Given the description of an element on the screen output the (x, y) to click on. 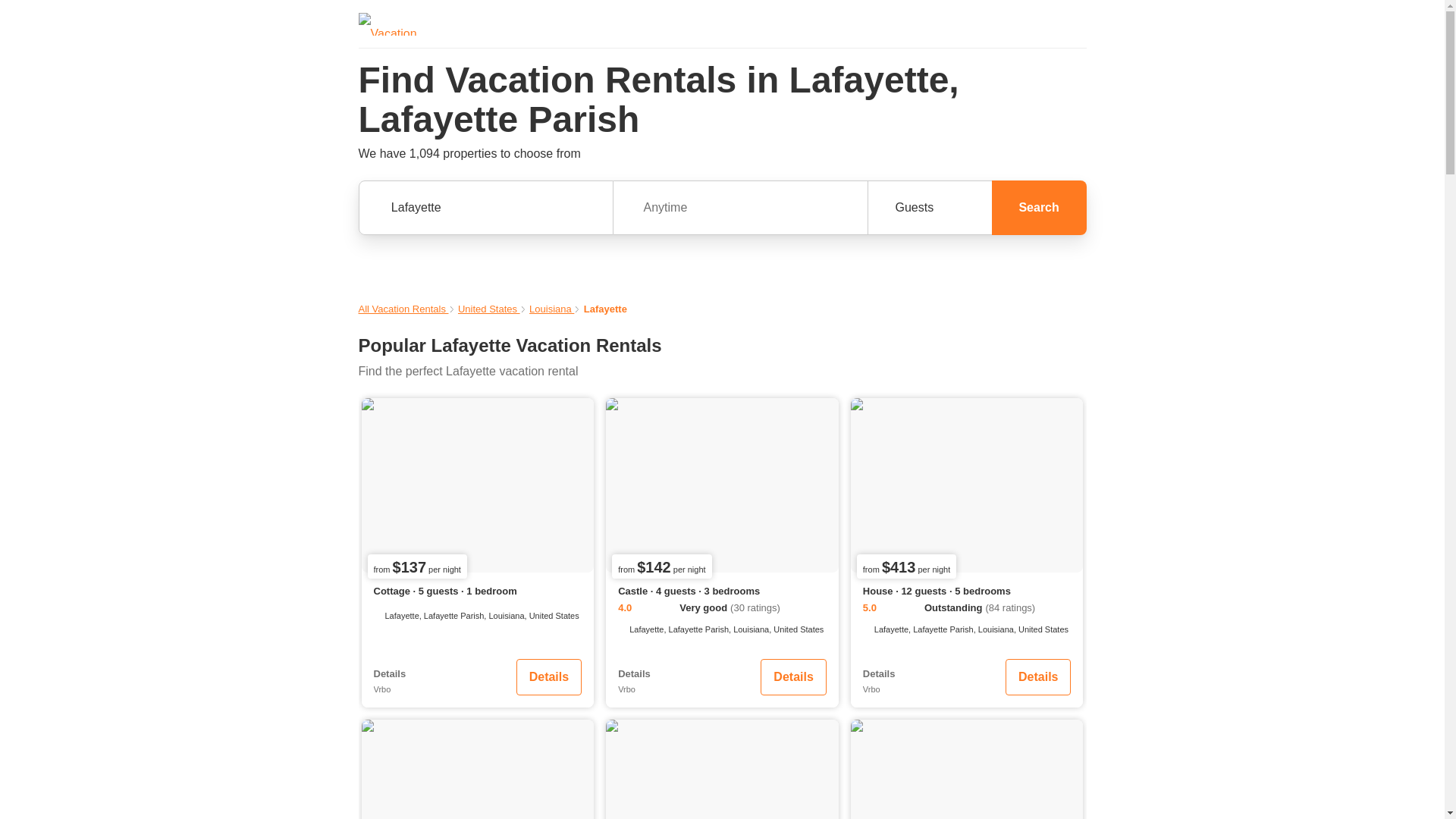
All Vacation Rentals (403, 308)
All Vacation Rentals (403, 308)
Louisiana (551, 308)
Search (1038, 207)
United States (488, 308)
Louisiana (551, 308)
United States (488, 308)
